Given the description of an element on the screen output the (x, y) to click on. 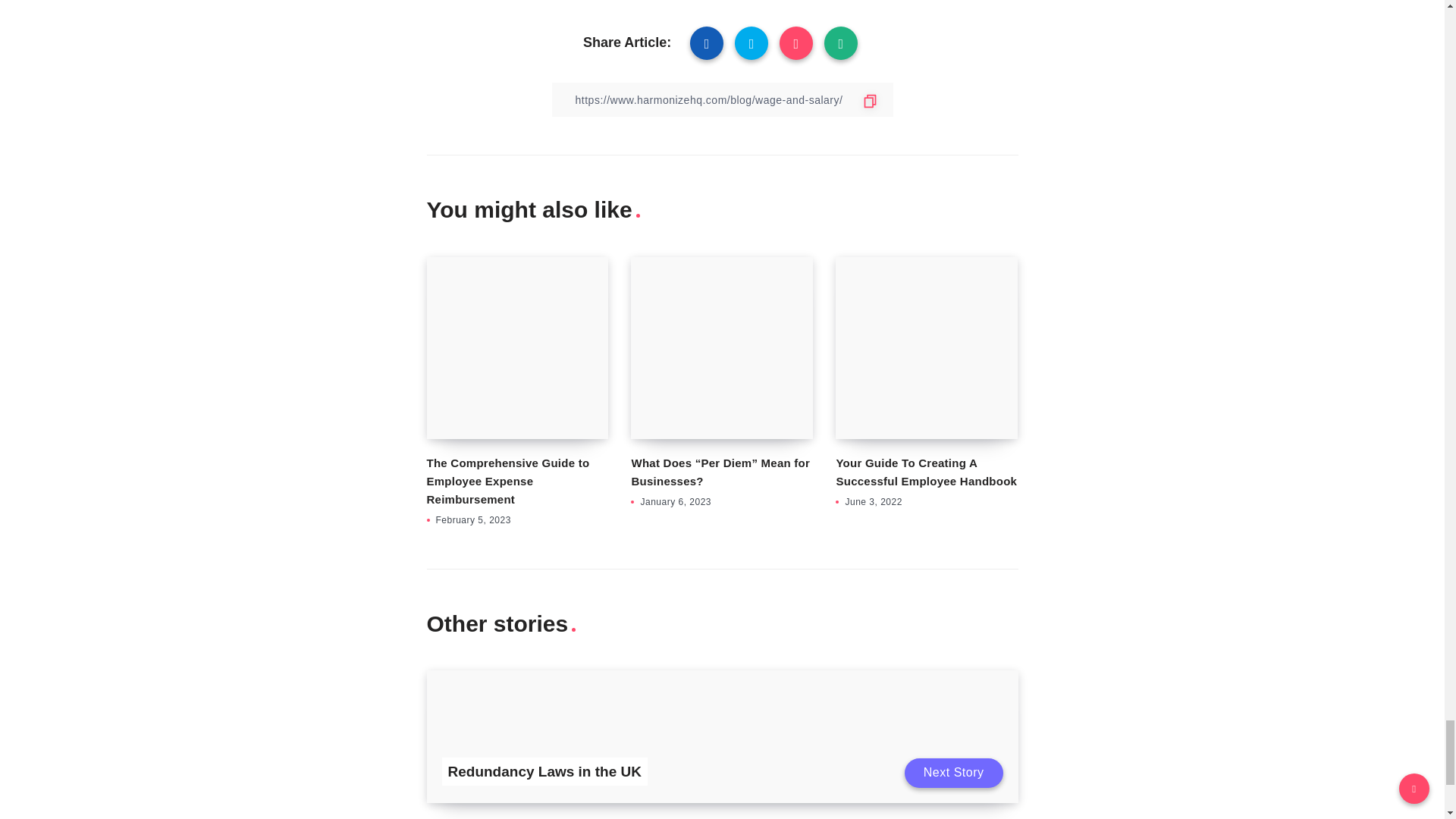
The Comprehensive Guide to Employee Expense Reimbursement  (507, 481)
Your Guide To Creating A Successful Employee Handbook (925, 471)
